Given the description of an element on the screen output the (x, y) to click on. 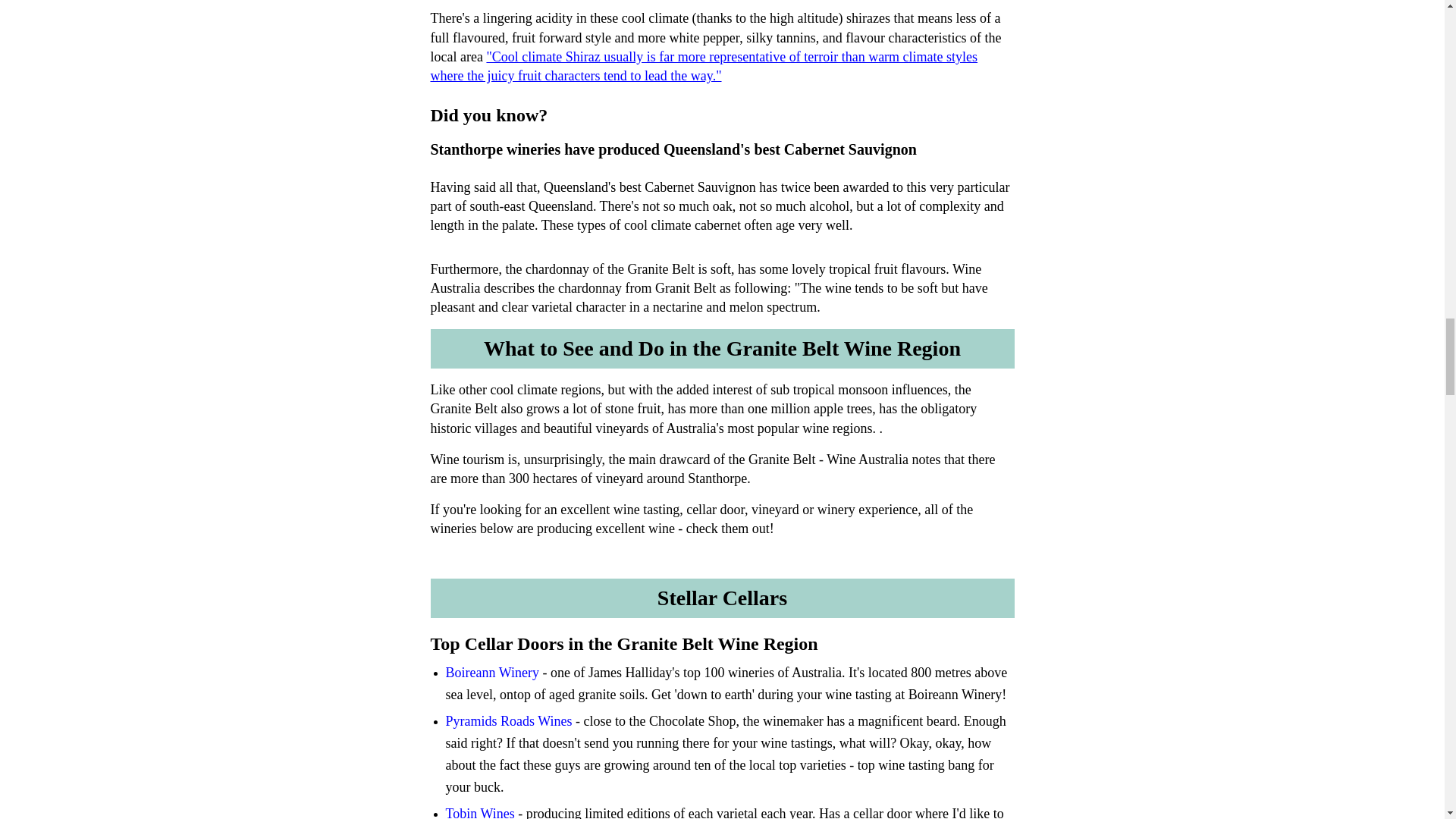
Tobin Wines (480, 812)
Boireann Winery (494, 672)
Pyramids Roads Wines (508, 720)
STATE OF PLAY: COOL CLIMATE SHIRAZ (704, 66)
